Given the description of an element on the screen output the (x, y) to click on. 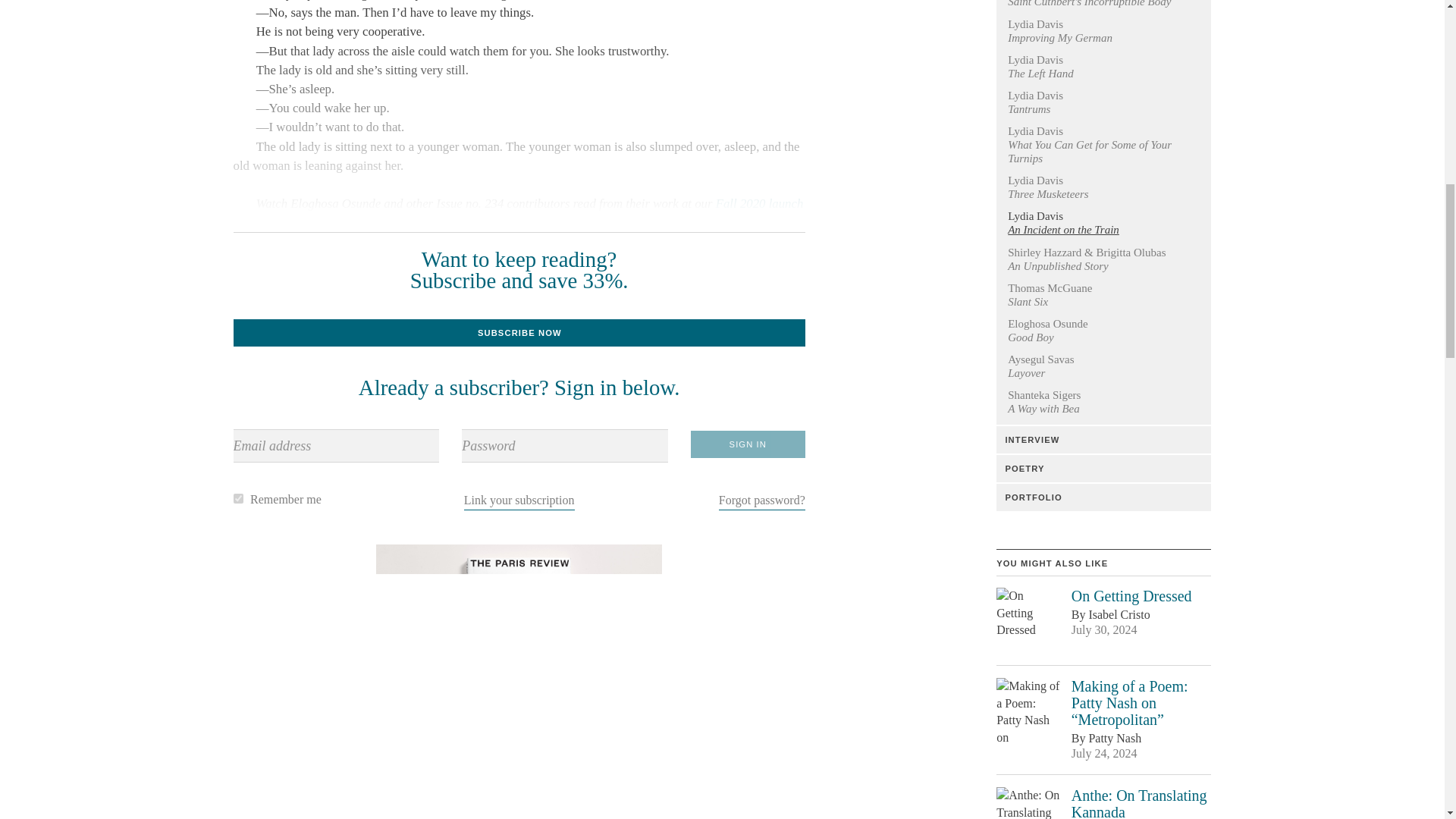
Sign In (747, 443)
remember (237, 498)
